Given the description of an element on the screen output the (x, y) to click on. 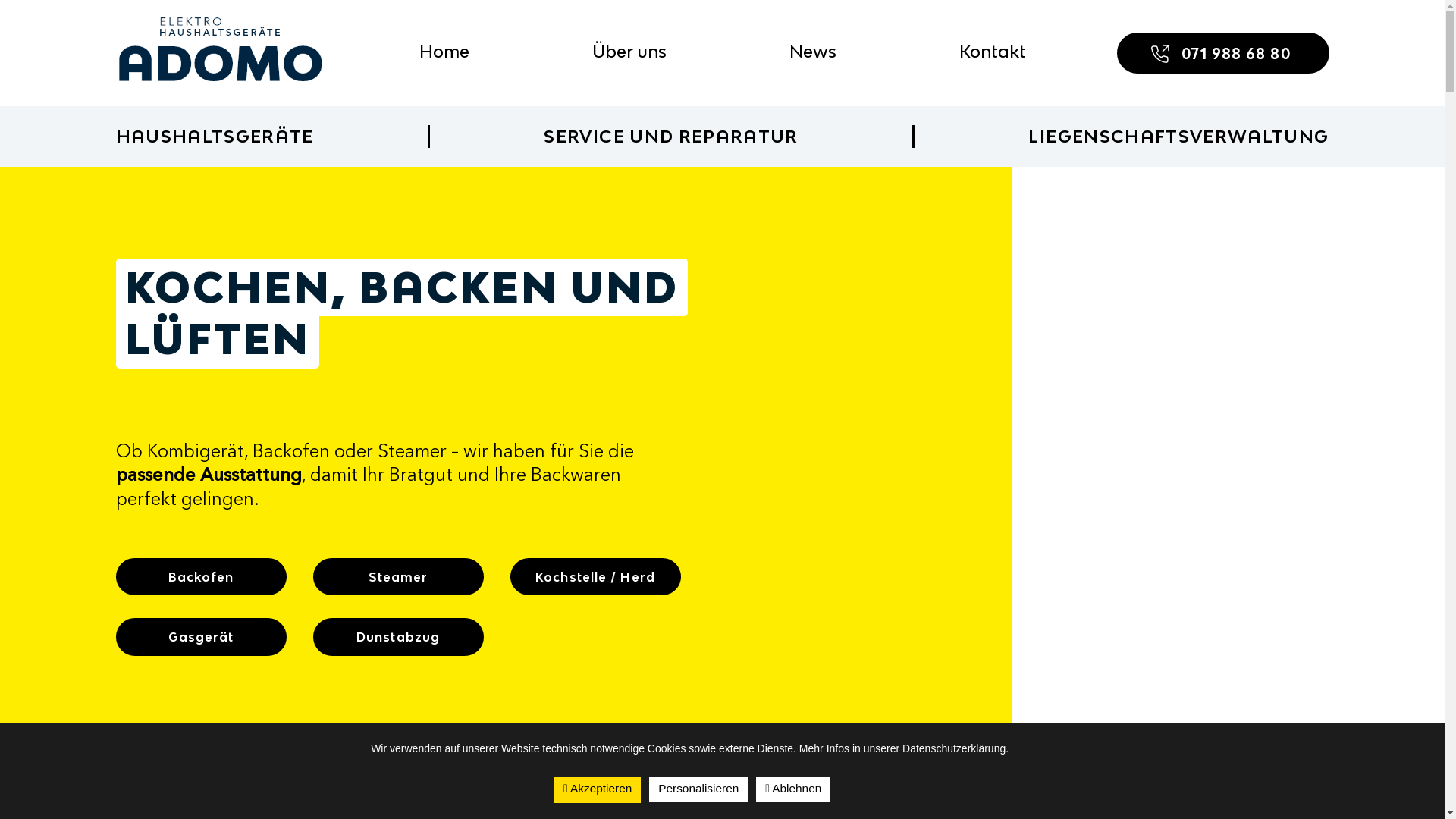
Steamer Element type: text (397, 577)
LIEGENSCHAFTSVERWALTUNG Element type: text (1178, 136)
News Element type: text (811, 51)
Backofen Element type: text (200, 577)
Home Element type: text (443, 51)
Kochstelle / Herd Element type: text (594, 577)
071 988 68 80 Element type: text (1222, 52)
Kontakt Element type: text (991, 51)
Dunstabzug Element type: text (397, 636)
Personalisieren Element type: text (698, 789)
SERVICE UND REPARATUR Element type: text (670, 136)
